Given the description of an element on the screen output the (x, y) to click on. 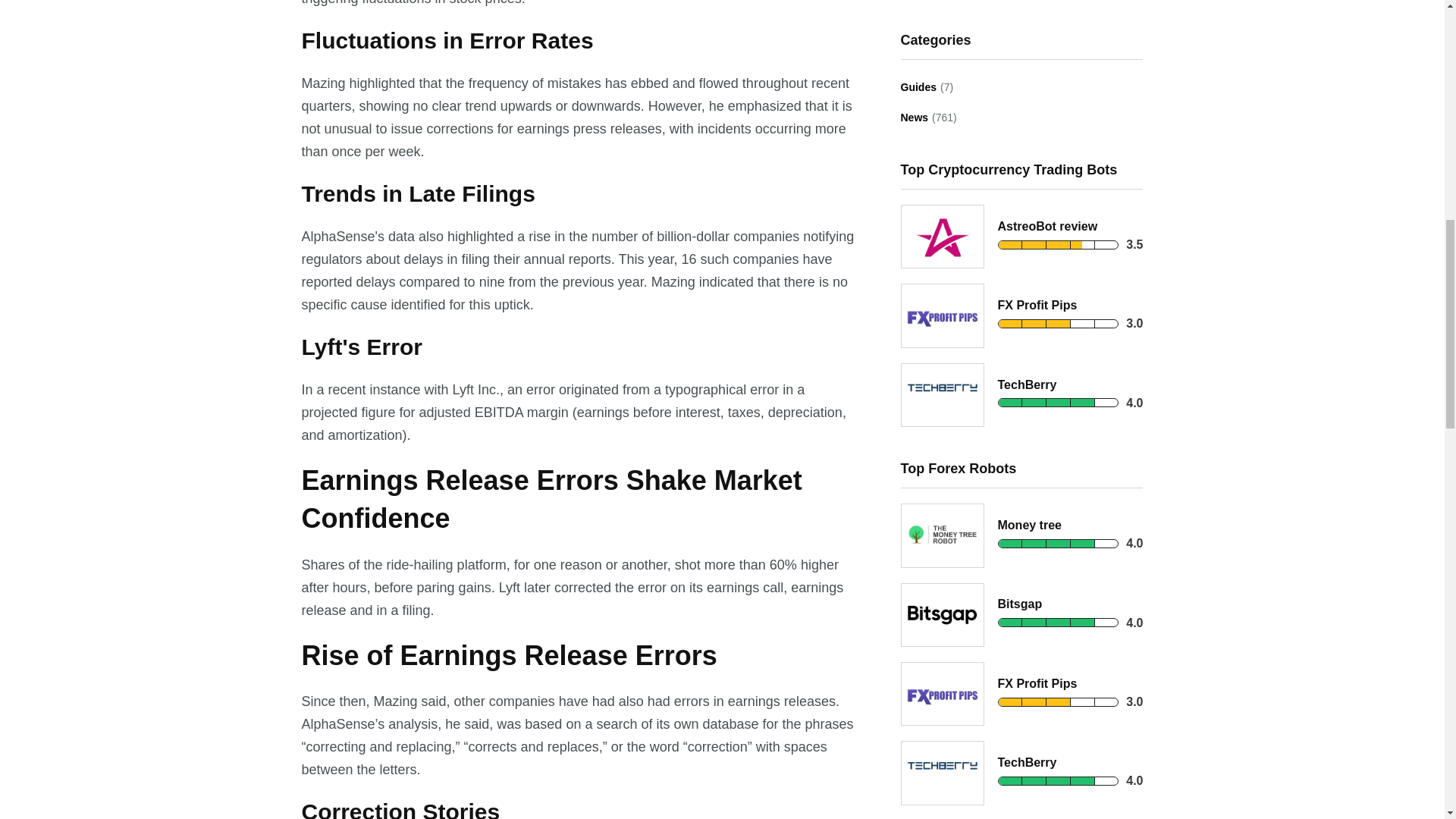
News (914, 117)
Guides (918, 87)
AstreoBot review (1047, 226)
FX Profit Pips (1037, 305)
